Given the description of an element on the screen output the (x, y) to click on. 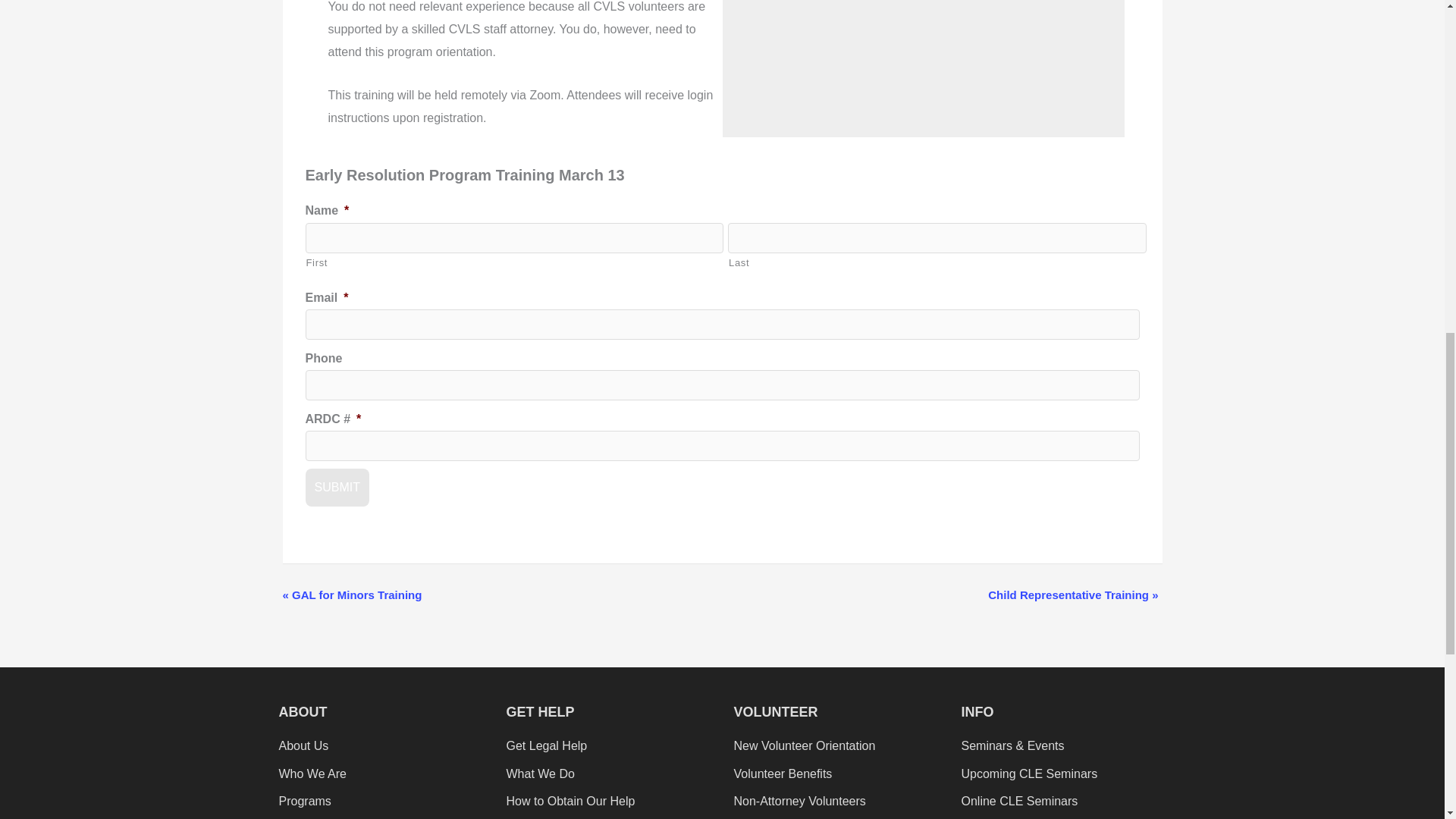
Submit (336, 487)
